Given the description of an element on the screen output the (x, y) to click on. 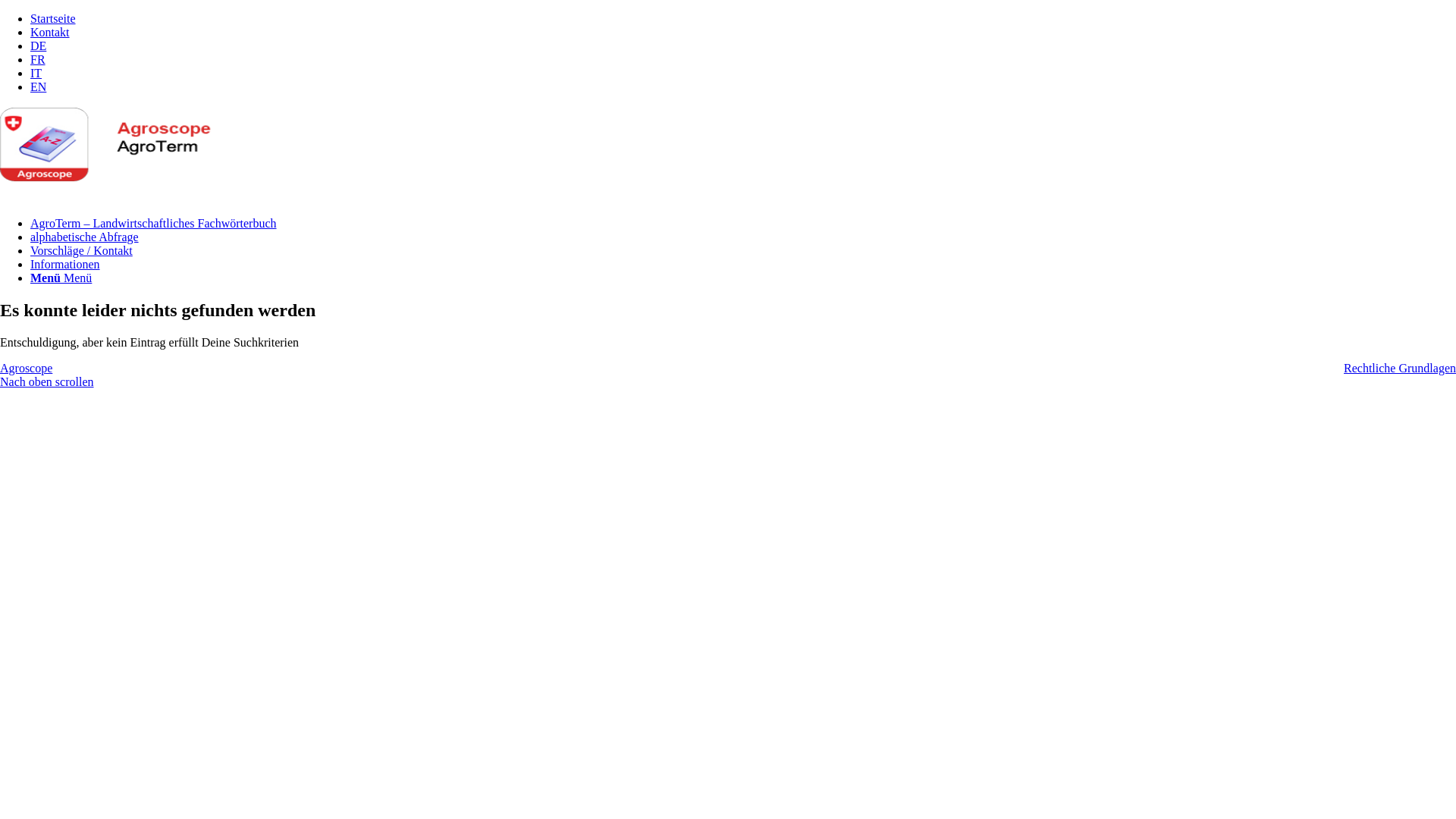
logo Element type: hover (113, 177)
DE Element type: text (38, 45)
logo Element type: hover (113, 144)
Agroscope Element type: text (26, 367)
FR Element type: text (37, 59)
Informationen Element type: text (65, 263)
Startseite Element type: text (52, 18)
Nach oben scrollen Element type: text (47, 381)
alphabetische Abfrage Element type: text (84, 236)
EN Element type: text (38, 86)
IT Element type: text (35, 72)
Kontakt Element type: text (49, 31)
